Given the description of an element on the screen output the (x, y) to click on. 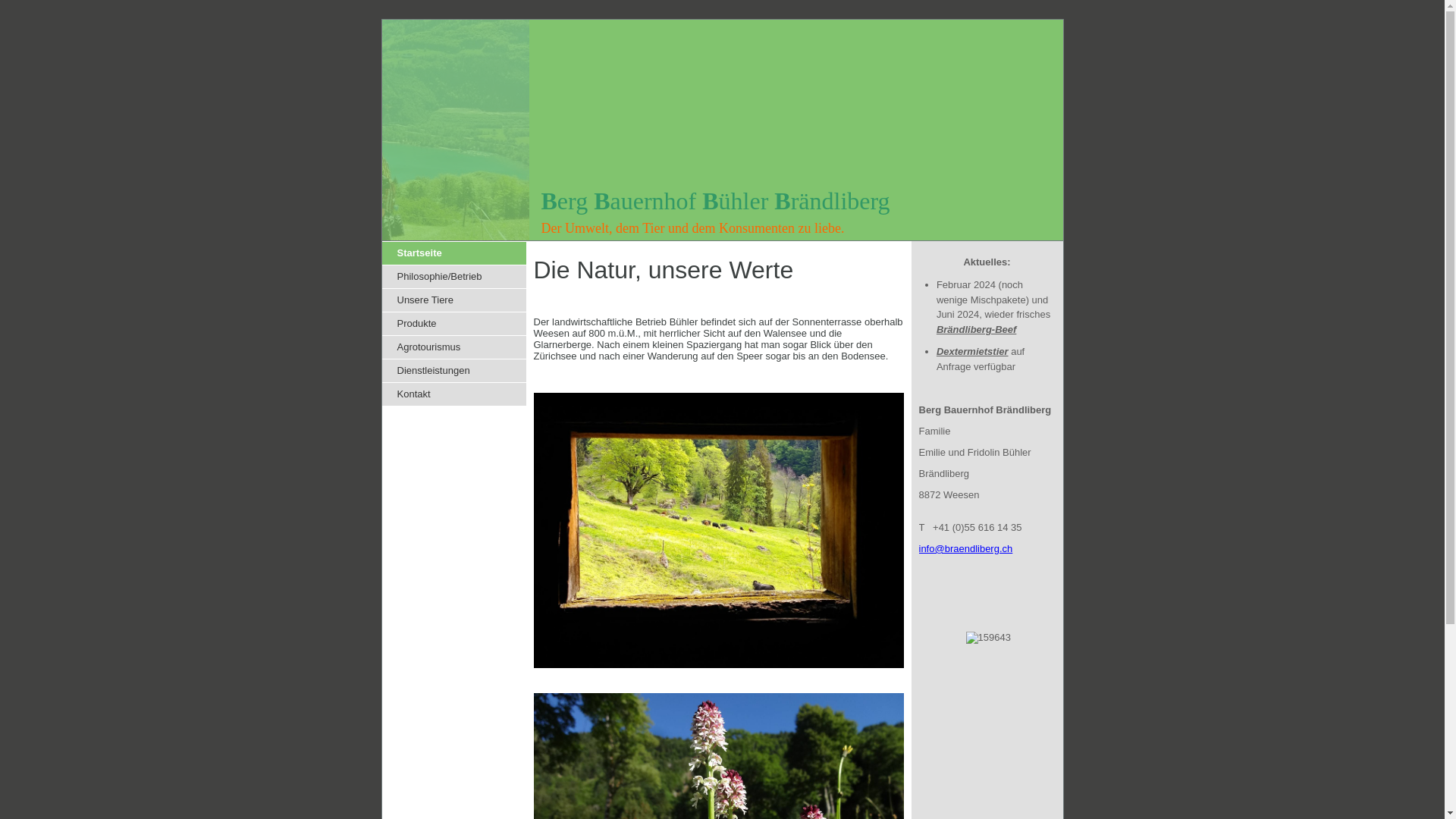
Kontakt Element type: text (454, 393)
Philosophie/Betrieb Element type: text (454, 276)
Startseite Element type: text (454, 252)
Dienstleistungen Element type: text (454, 370)
Dextermietstier Element type: text (972, 351)
Produkte Element type: text (454, 323)
Unsere Tiere Element type: text (454, 299)
info@braendliberg.ch Element type: text (966, 548)
Agrotourismus Element type: text (454, 346)
